Given the description of an element on the screen output the (x, y) to click on. 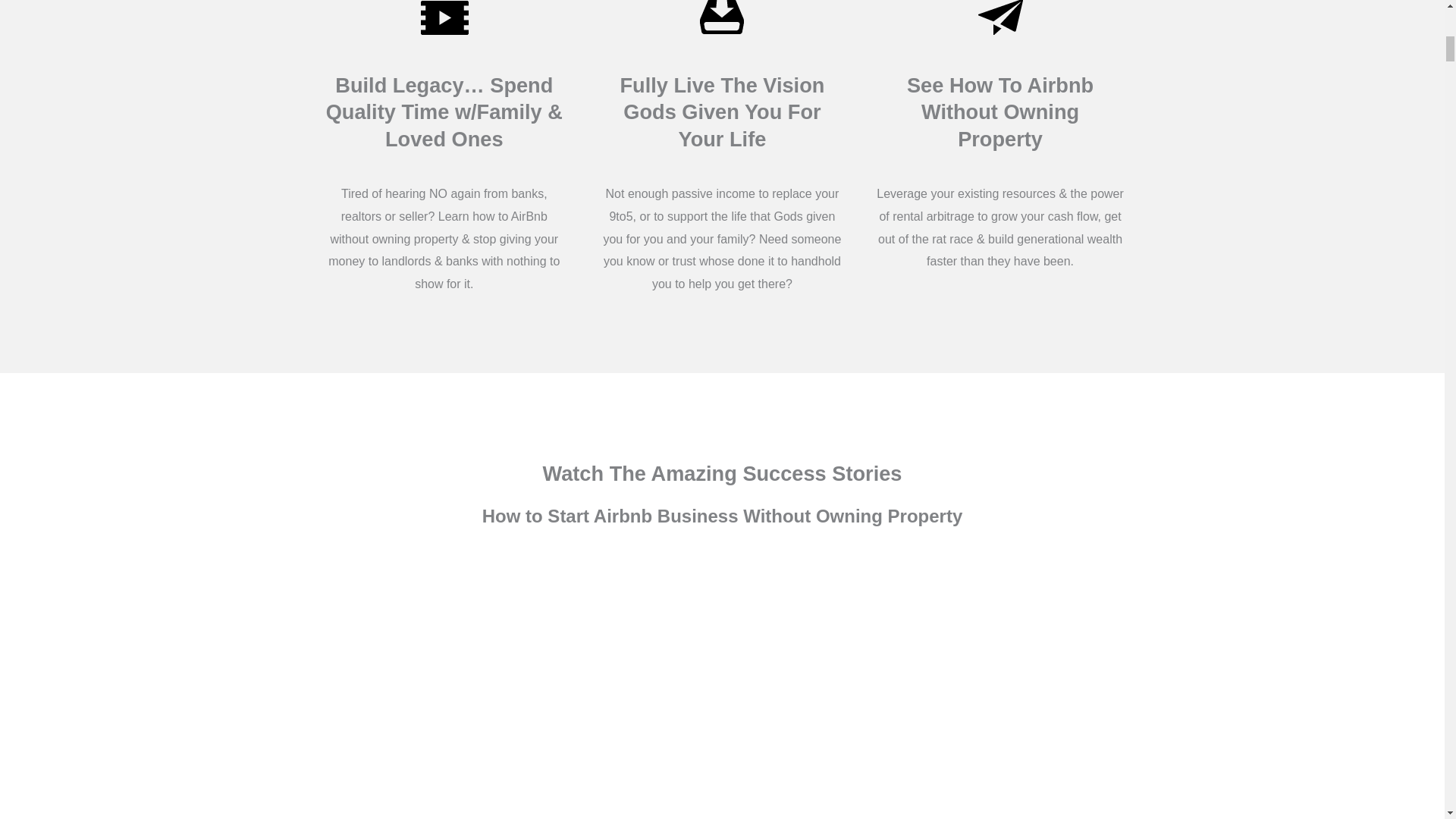
162 (721, 20)
199 (1000, 20)
151 (444, 20)
